Given the description of an element on the screen output the (x, y) to click on. 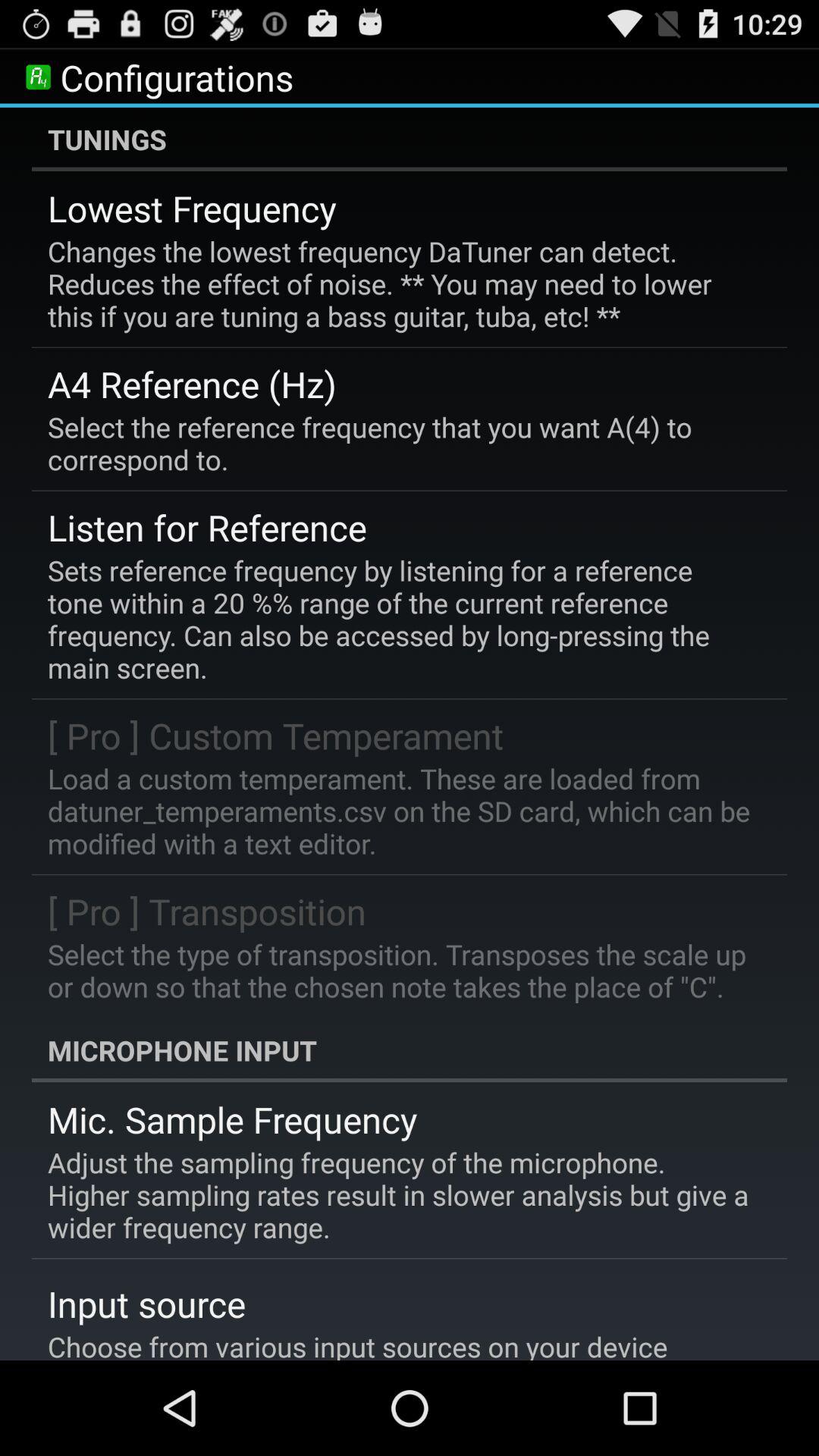
turn on item above the select the reference icon (191, 384)
